Given the description of an element on the screen output the (x, y) to click on. 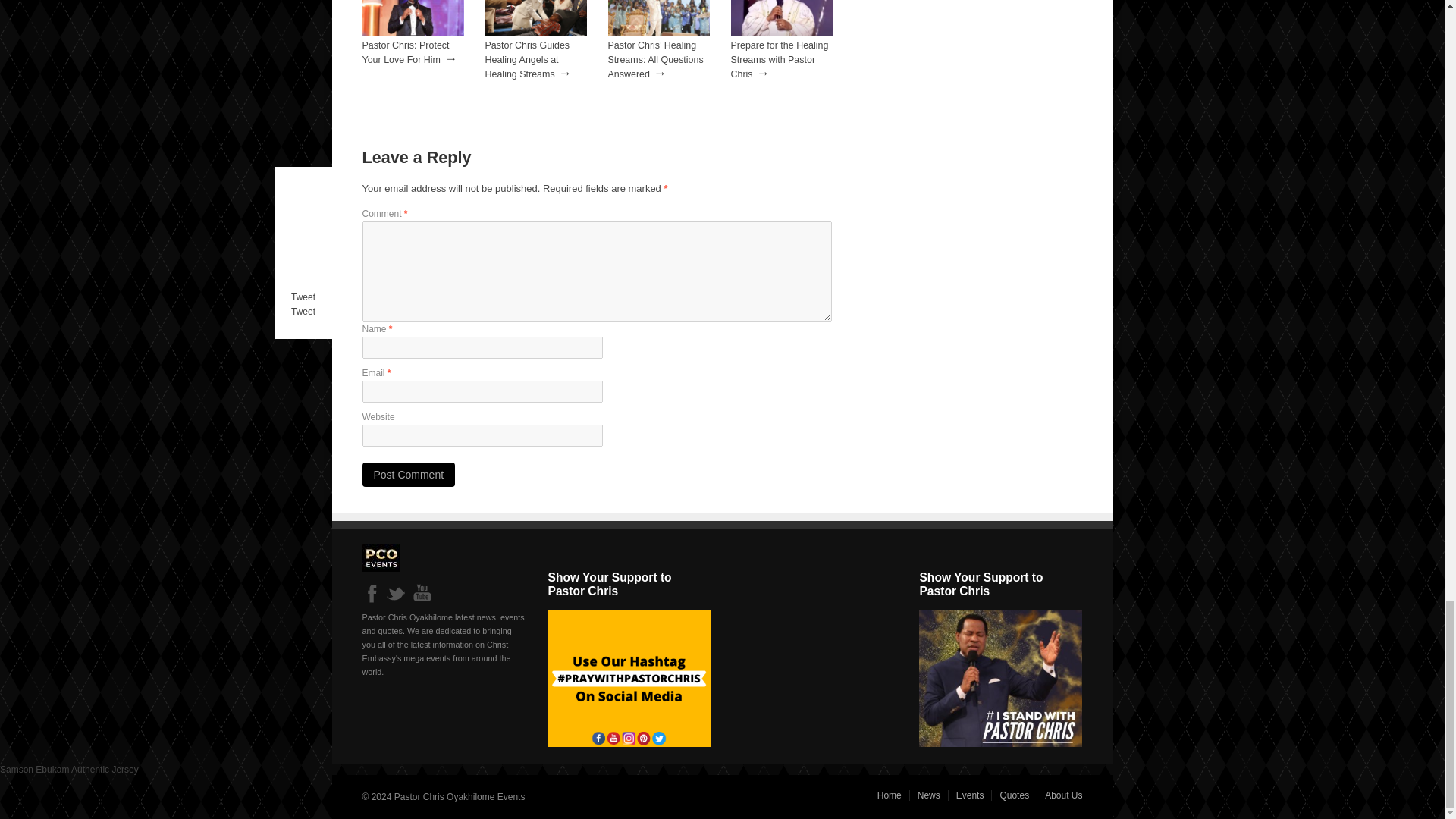
Samson Ebukam Authentic Jersey (69, 769)
Pastor Chris: Protect Your Love For Him (405, 52)
Pastor Chris Guides Healing Angels at Healing Streams (527, 59)
News (929, 795)
Pastor Chris: Protect Your Love For Him (405, 52)
Pastor Chris Guides Healing Angels at Healing Streams (527, 59)
Prepare for the Healing Streams with Pastor Chris (779, 59)
Home (889, 795)
Pastor Chris: Protect Your Love For Him (413, 32)
Post Comment (408, 474)
Pastor Chris Guides Healing Angels at Healing Streams (535, 32)
Prepare for the Healing Streams with Pastor Chris (781, 32)
Prepare for the Healing Streams with Pastor Chris (779, 59)
Post Comment (408, 474)
